Given the description of an element on the screen output the (x, y) to click on. 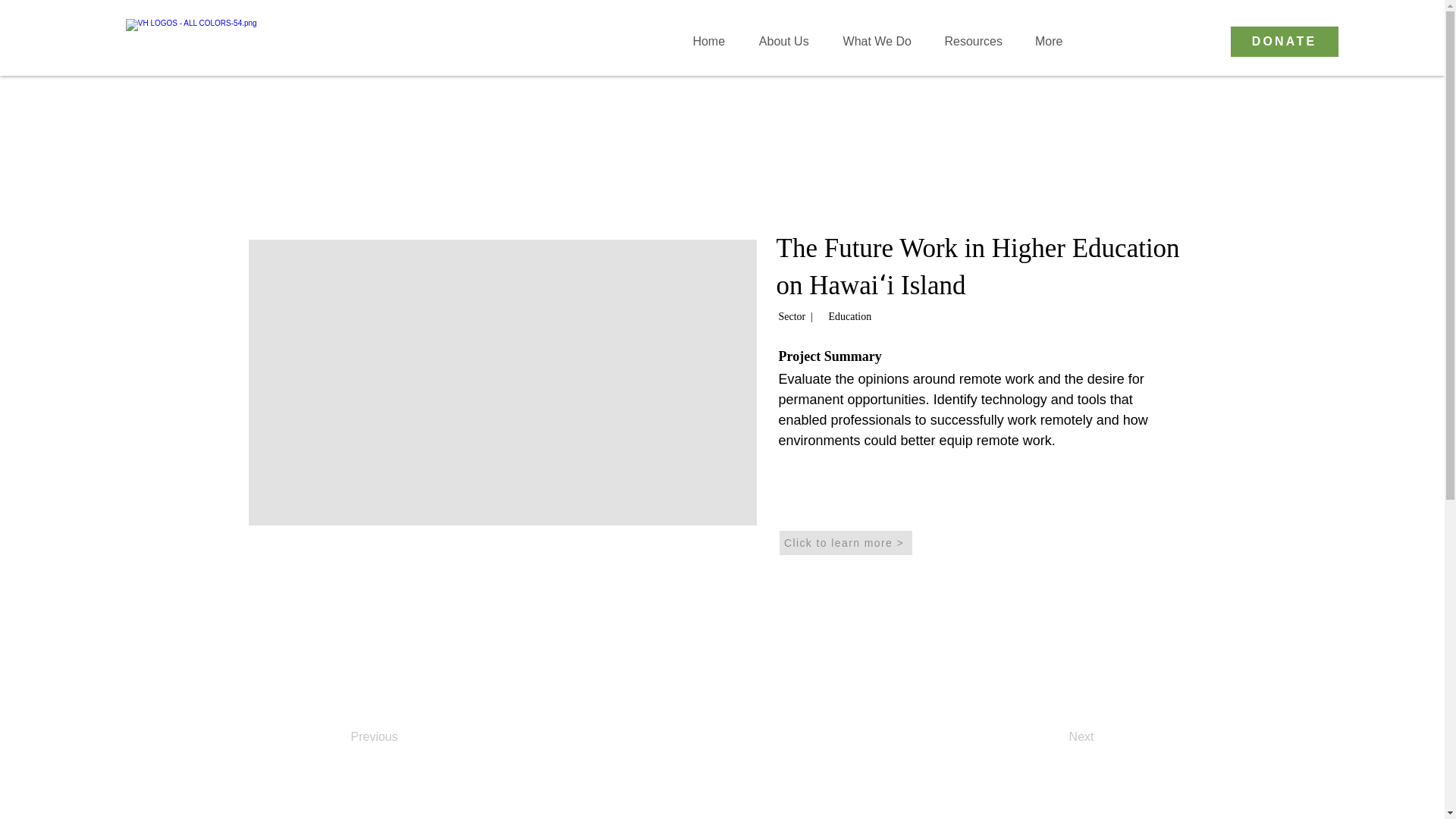
Next (1055, 736)
DONATE (1284, 41)
Previous (399, 736)
Home (709, 41)
